Given the description of an element on the screen output the (x, y) to click on. 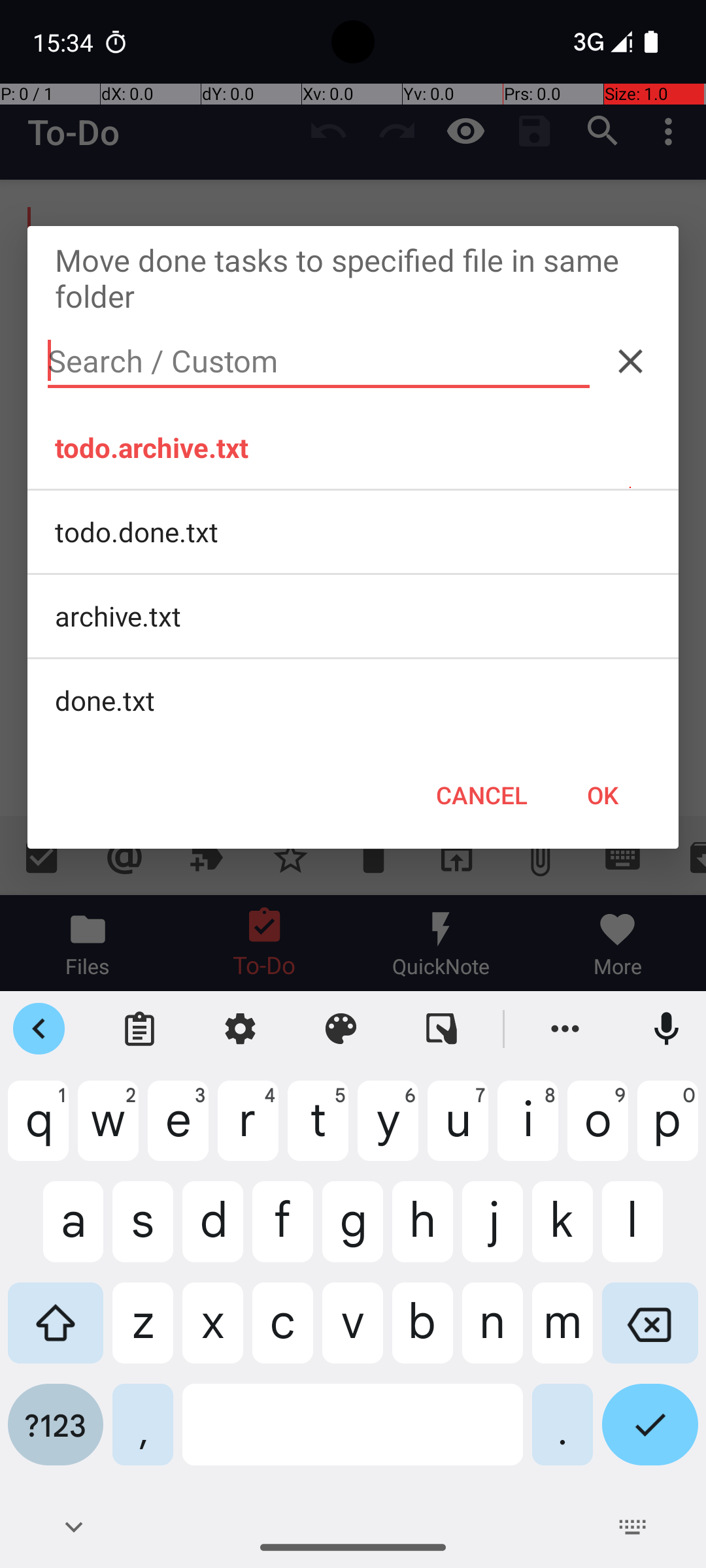
Move done tasks to specified file in same folder Element type: android.widget.TextView (352, 277)
Search / Custom Element type: android.widget.EditText (318, 360)
todo.archive.txt Element type: android.widget.TextView (352, 447)
todo.done.txt Element type: android.widget.TextView (352, 531)
archive.txt Element type: android.widget.TextView (352, 615)
done.txt Element type: android.widget.TextView (352, 700)
